Given the description of an element on the screen output the (x, y) to click on. 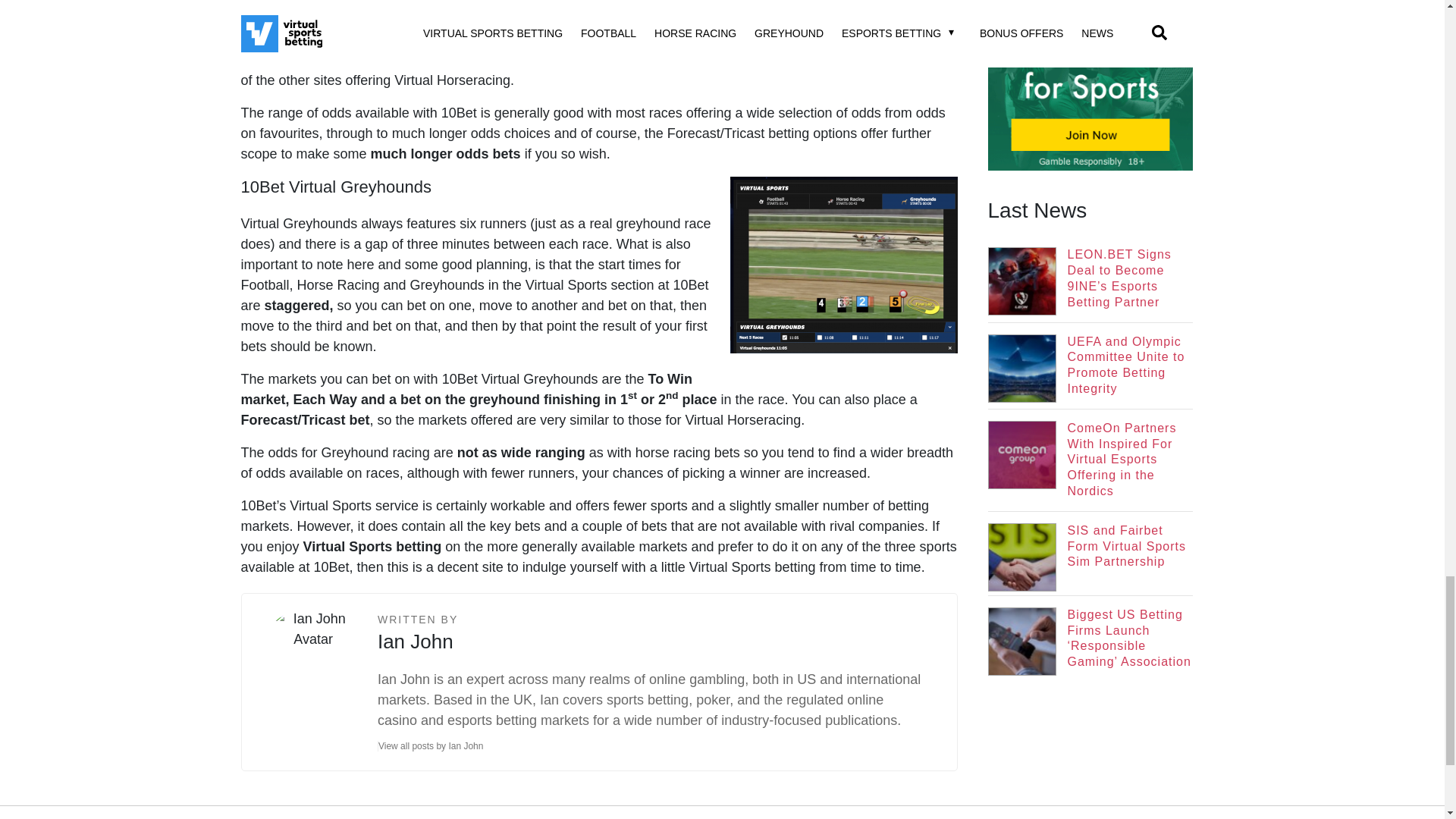
View all posts by Ian John (436, 746)
